Given the description of an element on the screen output the (x, y) to click on. 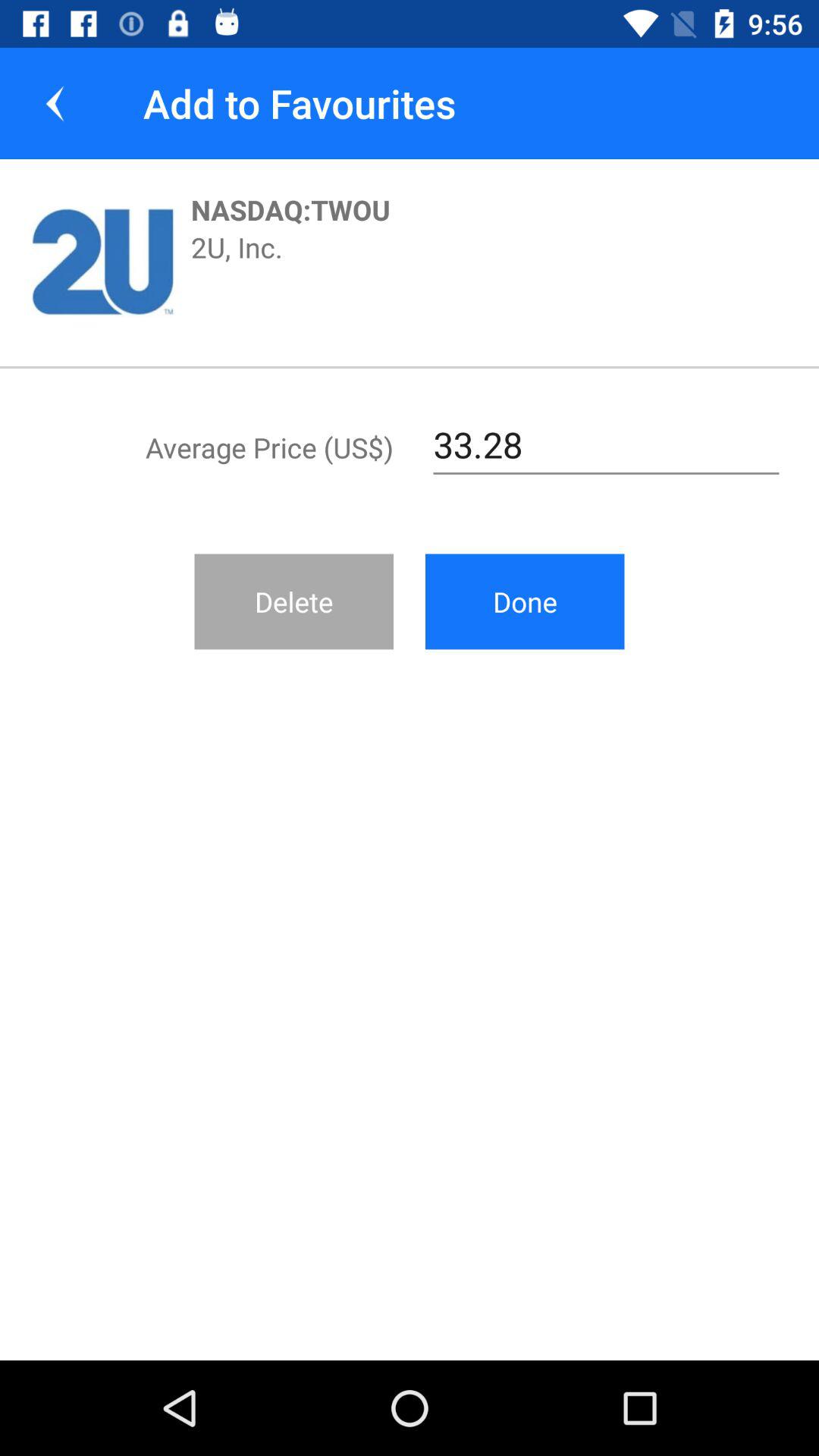
select 33.28 at the top right corner (606, 445)
